Given the description of an element on the screen output the (x, y) to click on. 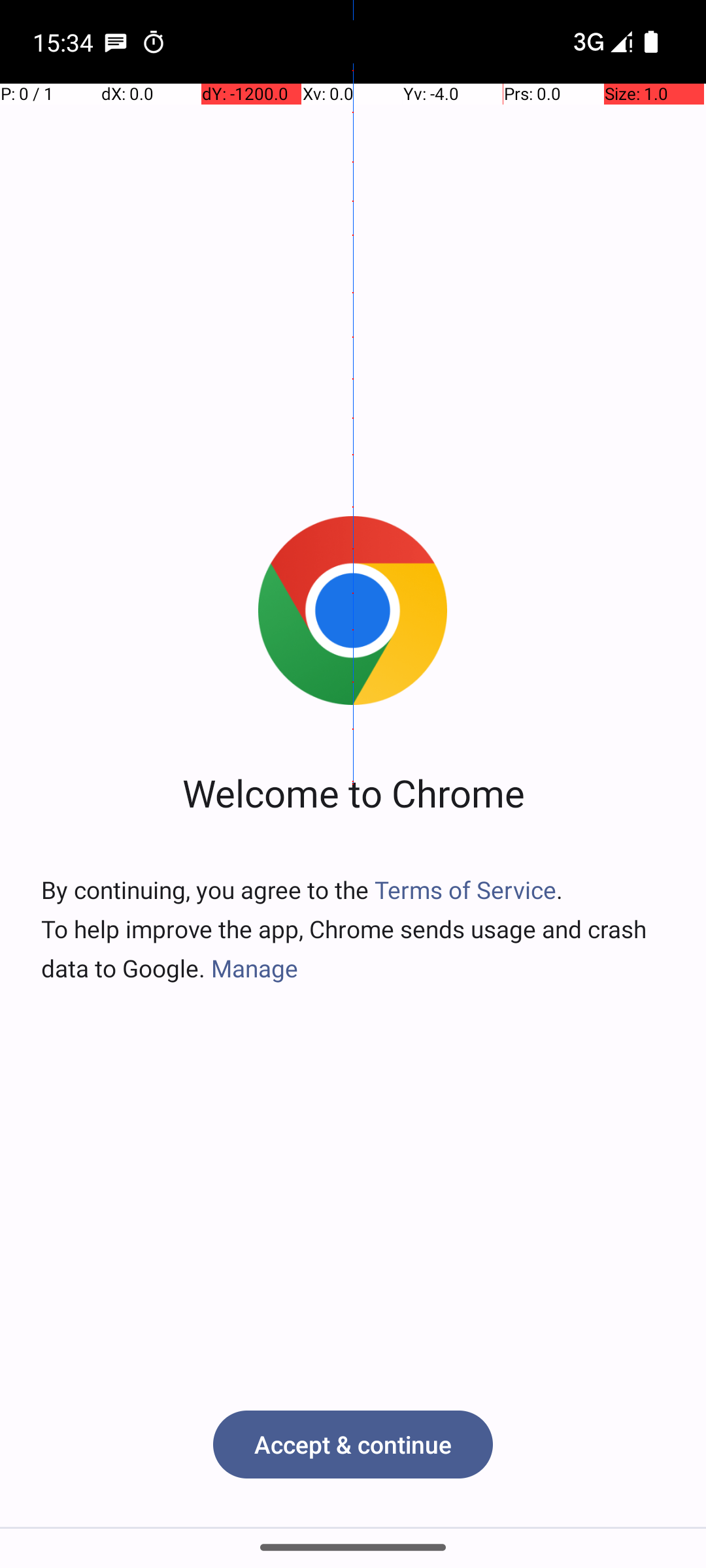
SMS Messenger notification: Freya Hernandez Element type: android.widget.ImageView (115, 41)
